Given the description of an element on the screen output the (x, y) to click on. 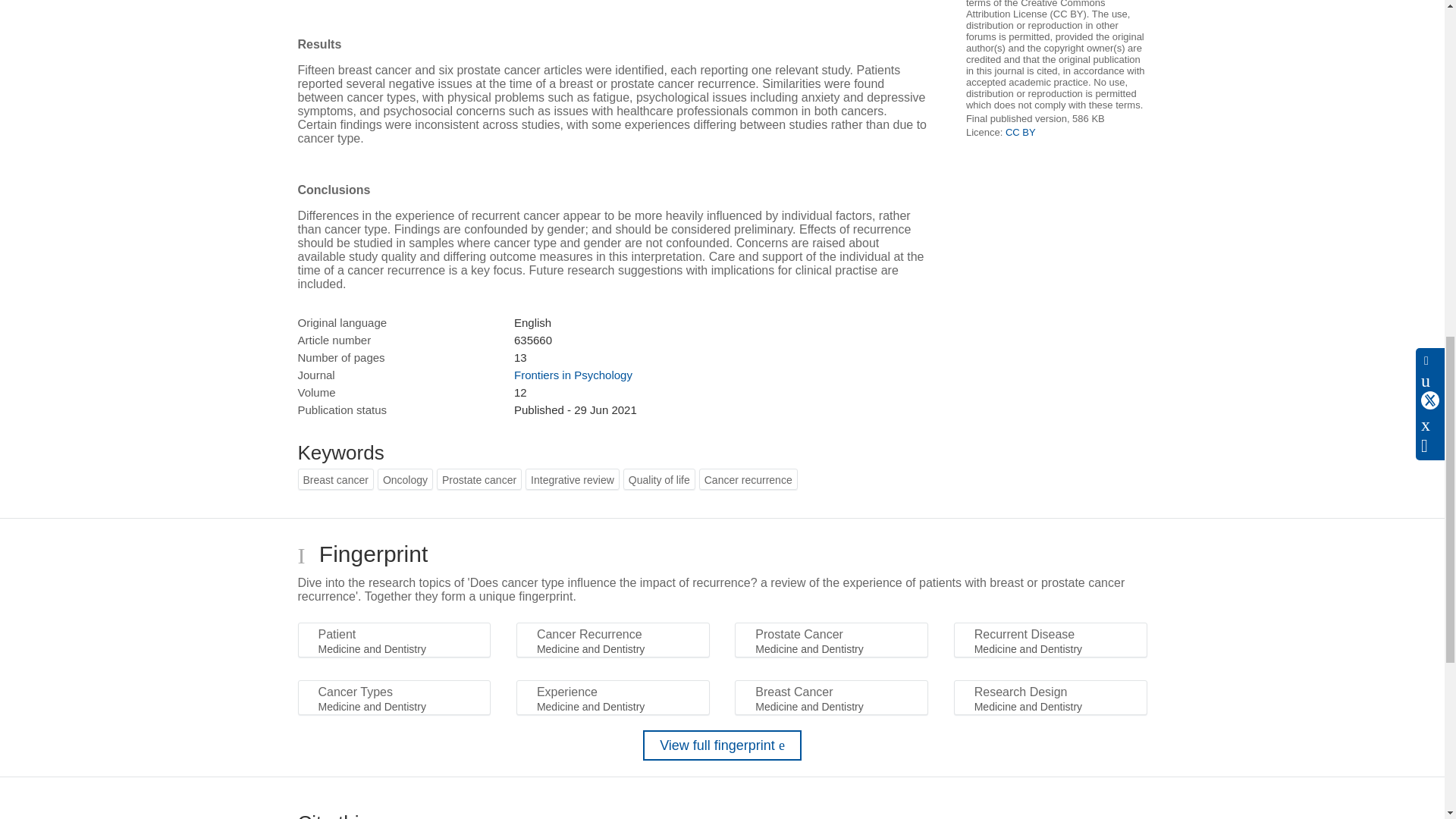
View full fingerprint (722, 745)
CC BY (1020, 132)
Frontiers in Psychology (572, 374)
